Given the description of an element on the screen output the (x, y) to click on. 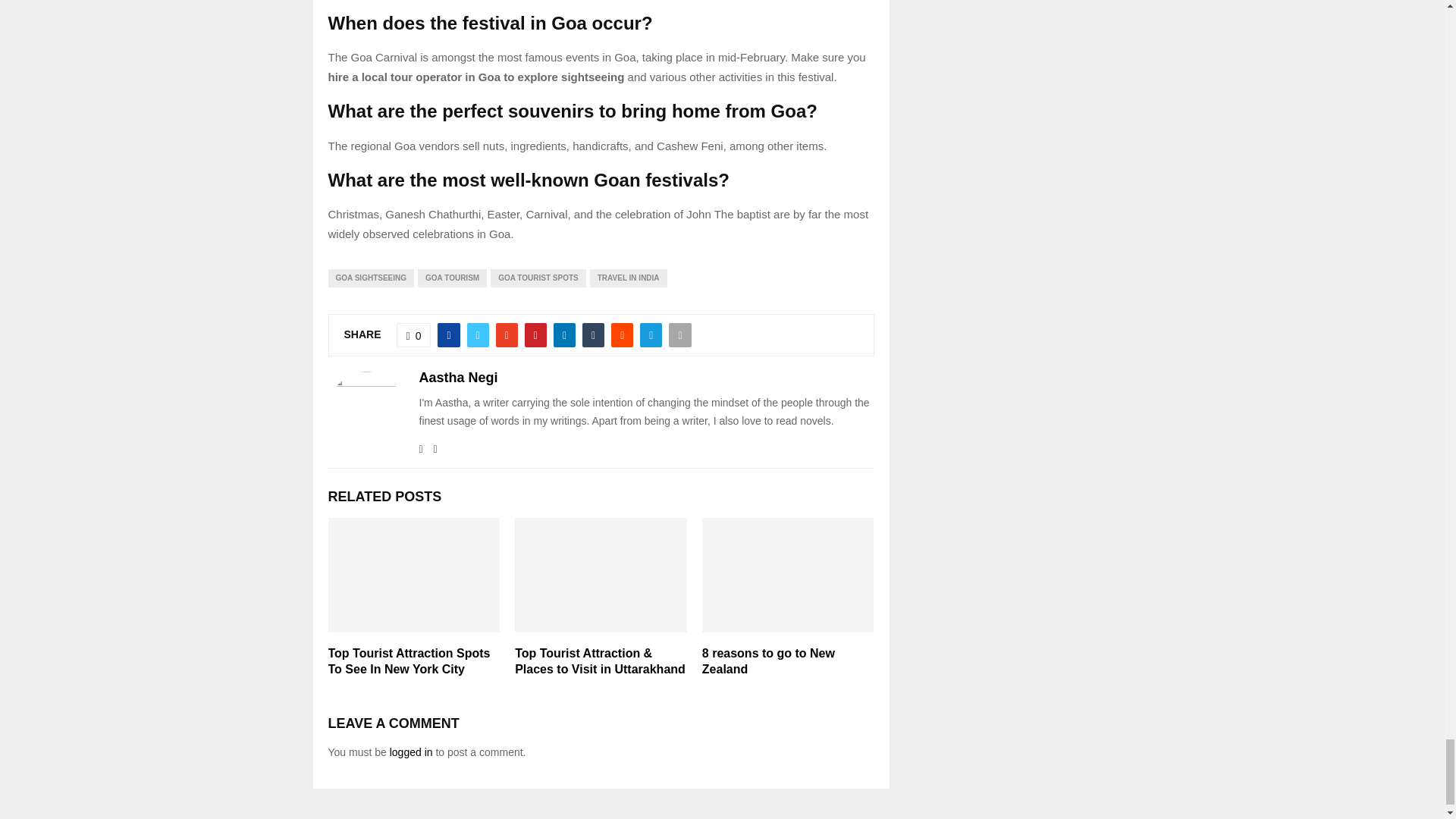
0 (413, 334)
GOA TOURIST SPOTS (538, 278)
TRAVEL IN INDIA (627, 278)
GOA TOURISM (451, 278)
GOA SIGHTSEEING (370, 278)
Like (413, 334)
